Given the description of an element on the screen output the (x, y) to click on. 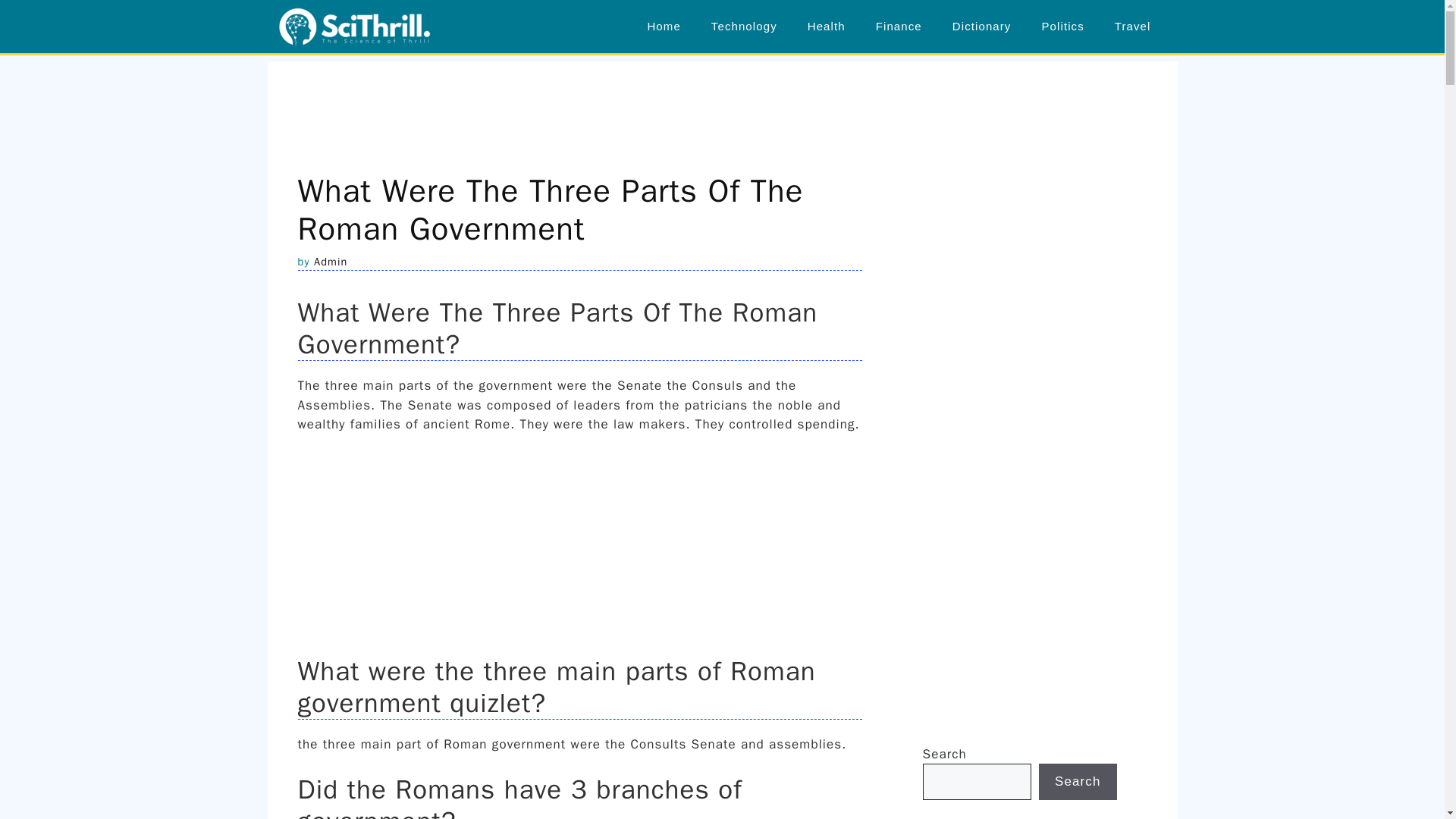
Admin (330, 261)
Advertisement (1035, 296)
View all posts by Admin (330, 261)
Dictionary (981, 26)
Health (826, 26)
Technology (743, 26)
Advertisement (579, 547)
Politics (1062, 26)
Travel (1132, 26)
Search (1077, 781)
Advertisement (1035, 567)
Finance (898, 26)
Home (663, 26)
Sci Thrill (354, 26)
Advertisement (721, 95)
